Given the description of an element on the screen output the (x, y) to click on. 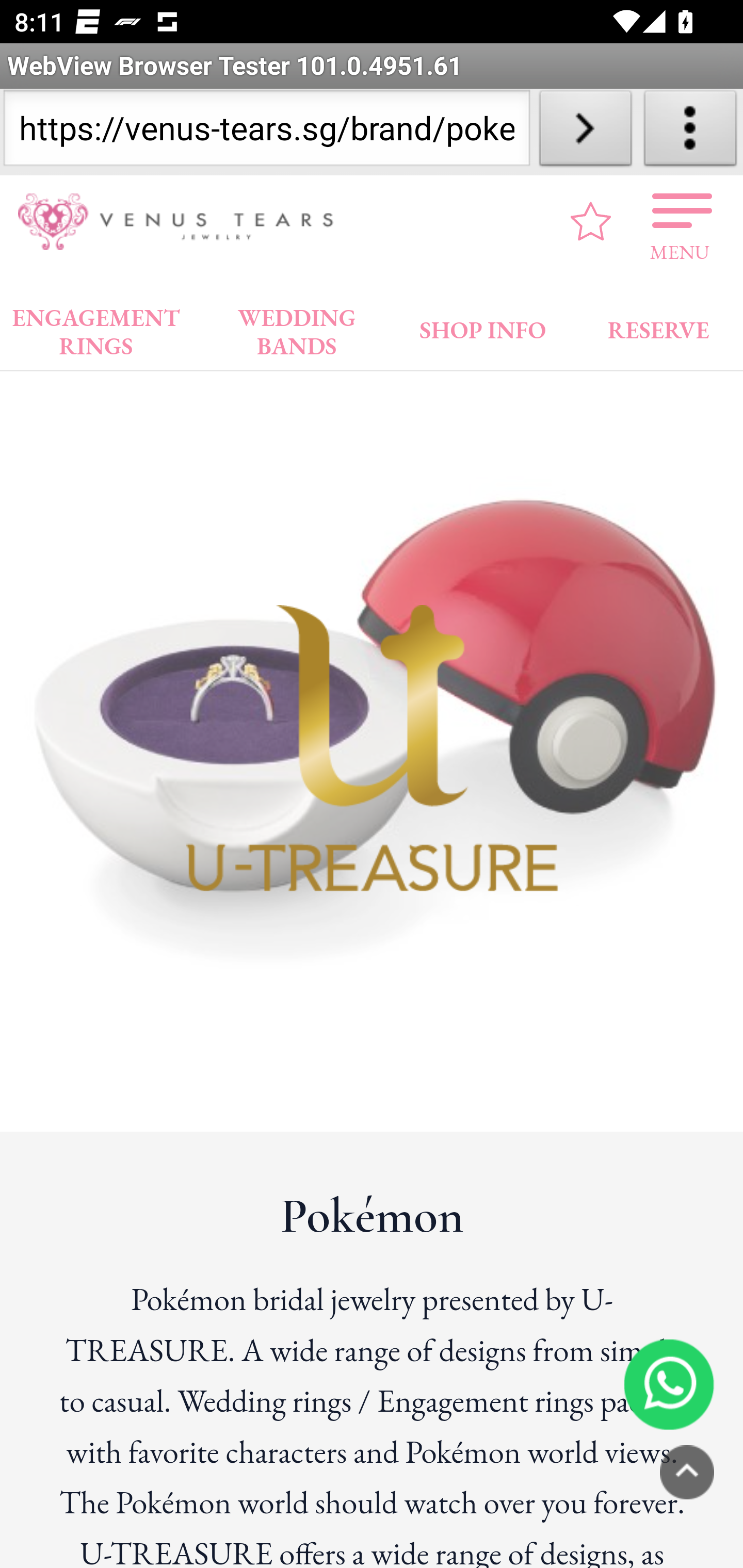
Load URL (585, 132)
About WebView (690, 132)
favourite (591, 220)
MENU (680, 220)
VENUS TEARS (181, 221)
ENGAGEMENT RINGS ENGAGEMENT RINGS (96, 326)
WEDDING BANDS WEDDING BANDS (296, 326)
SHOP INFO (482, 325)
RESERVE (657, 325)
6585184875 (668, 1383)
PAGETOP (686, 1472)
